Given the description of an element on the screen output the (x, y) to click on. 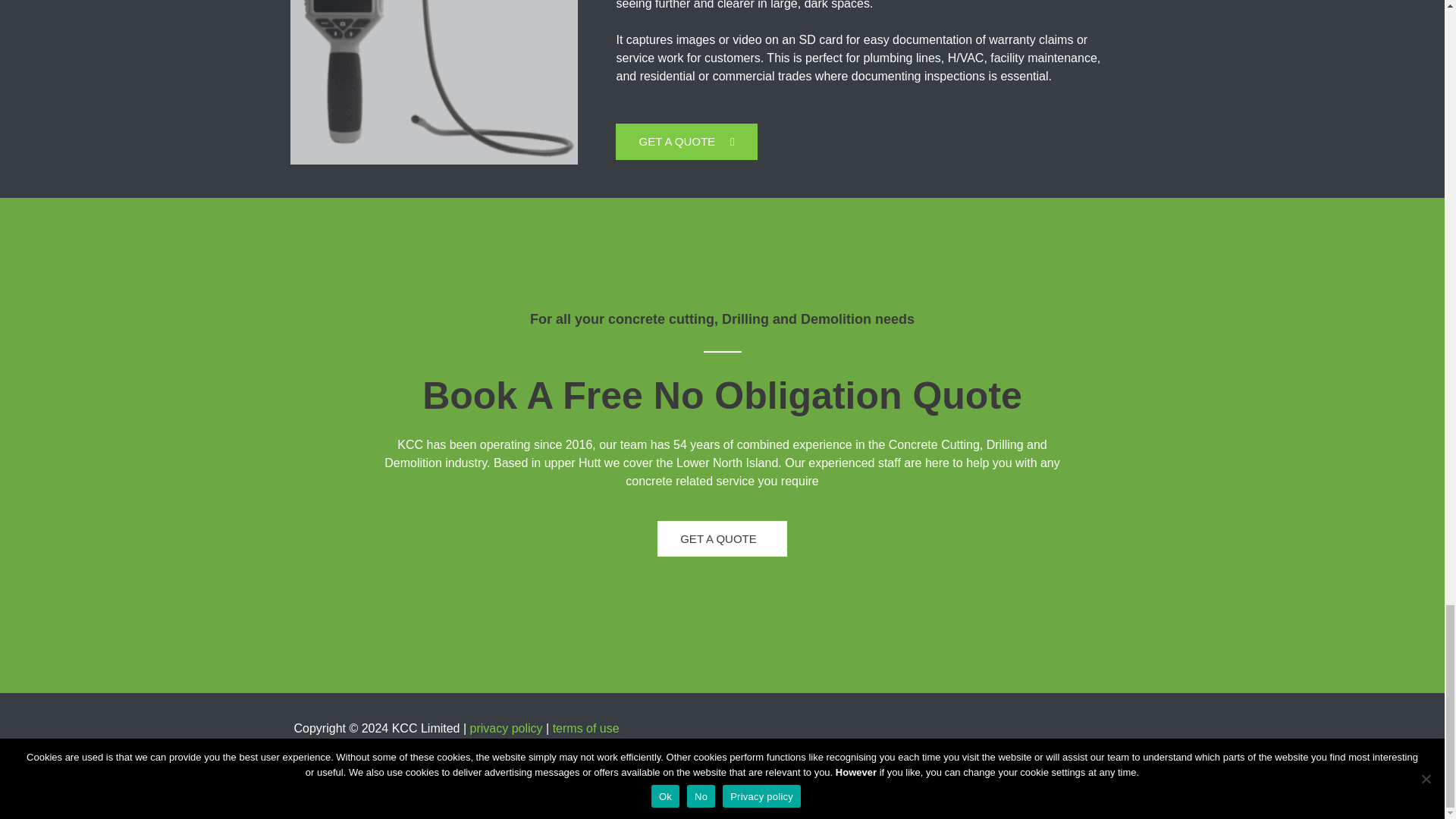
Instagram (687, 756)
terms of use (586, 727)
privacy policy (506, 727)
Linkedin (722, 756)
Cutting (377, 761)
 Contact (438, 761)
siterocket.nz (1110, 755)
GET A QUOTE (686, 141)
GET A QUOTE (722, 538)
Drilling (312, 761)
Facebook-f (654, 756)
